Given the description of an element on the screen output the (x, y) to click on. 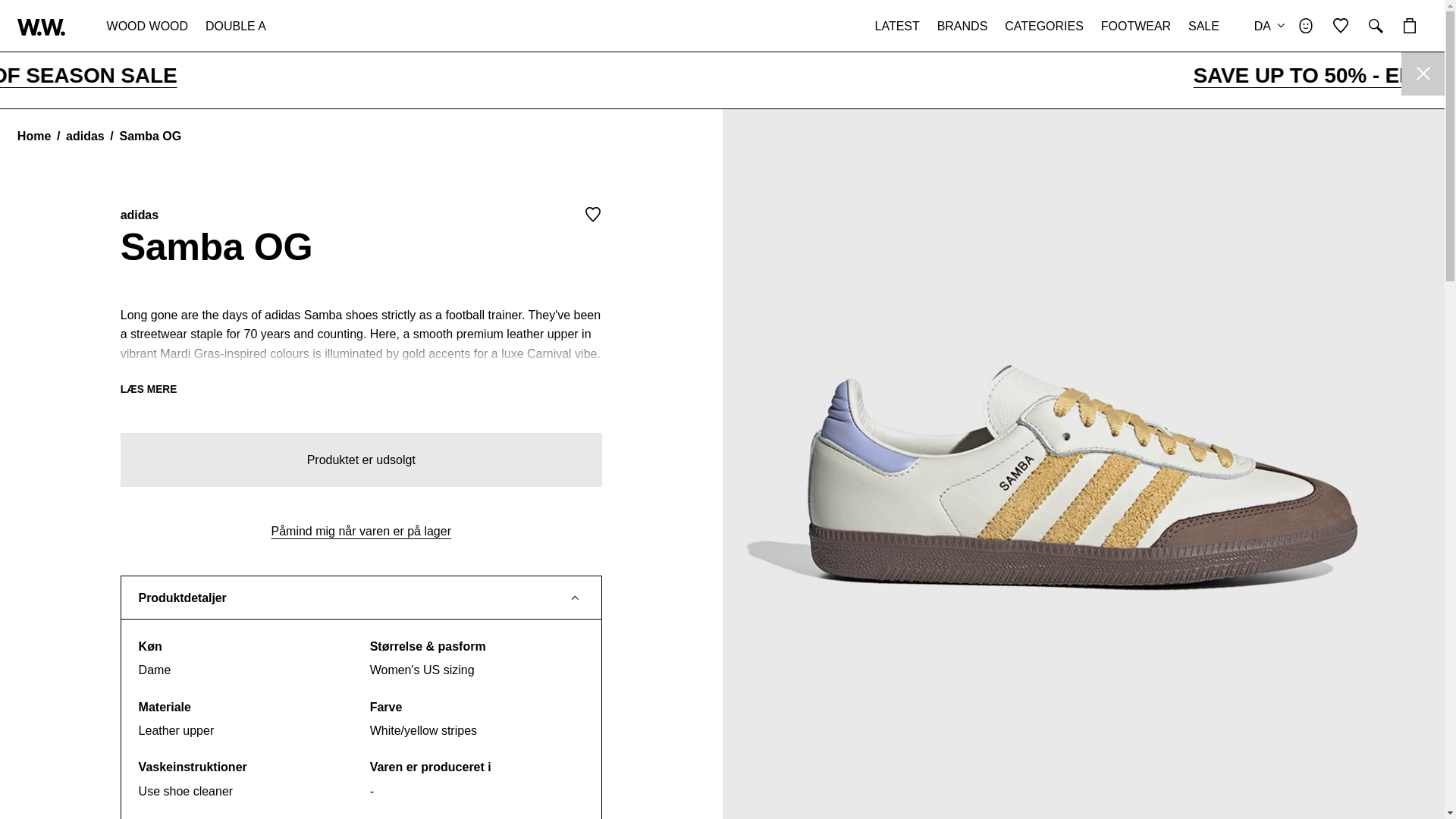
Wood Wood (41, 27)
Kurv (1408, 26)
Wood Wood (41, 26)
WOOD WOOD (147, 25)
DOUBLE A (235, 25)
